Given the description of an element on the screen output the (x, y) to click on. 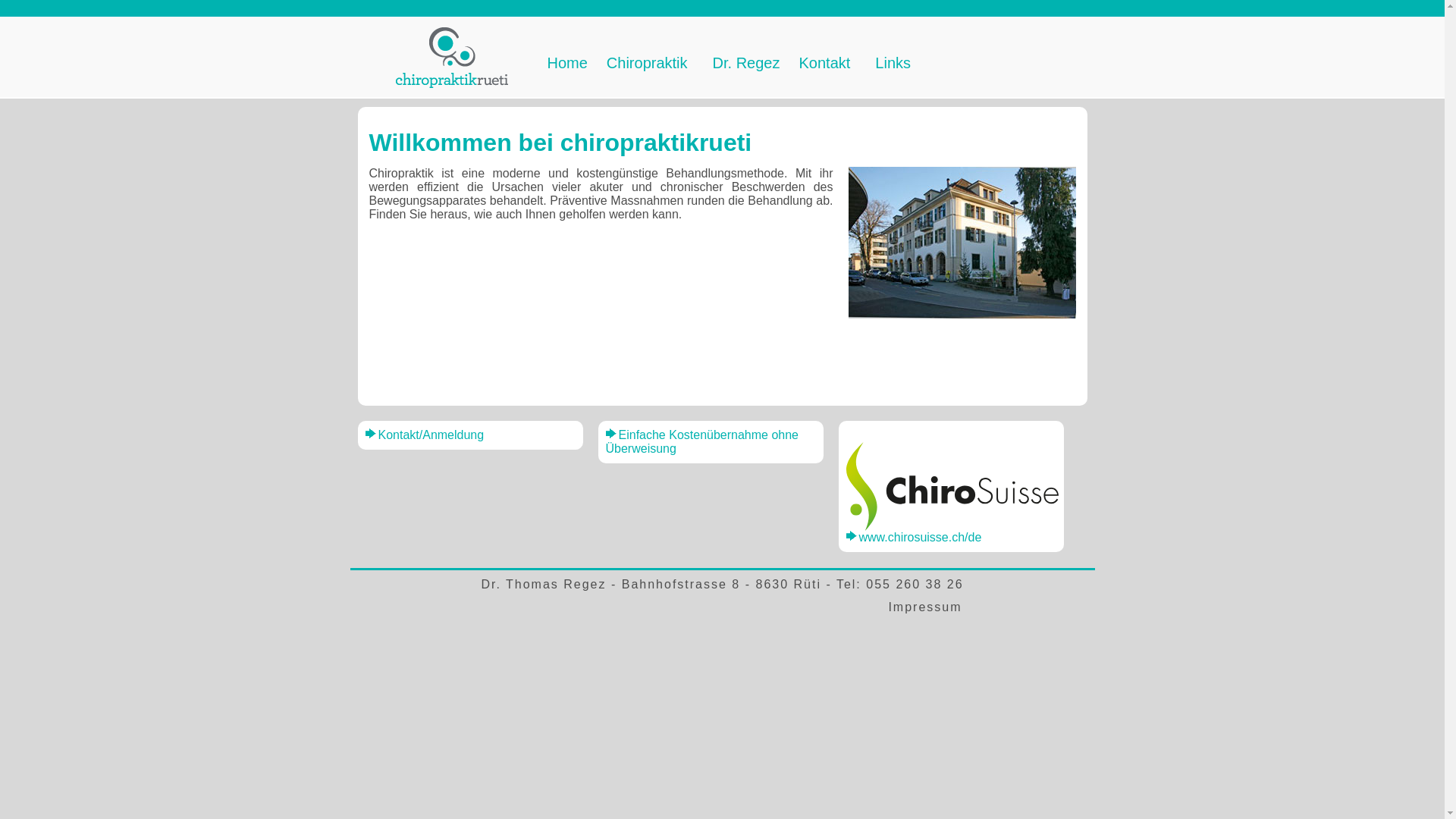
Kontakt Element type: text (829, 63)
www.chirosuisse.ch/de Element type: text (914, 536)
Home Element type: text (569, 63)
Impressum Element type: text (924, 606)
Chiropraktik Element type: text (652, 63)
Dr. Regez Element type: text (748, 63)
Links Element type: text (894, 63)
Kontakt/Anmeldung Element type: text (424, 434)
Page 1 Element type: hover (721, 252)
